Given the description of an element on the screen output the (x, y) to click on. 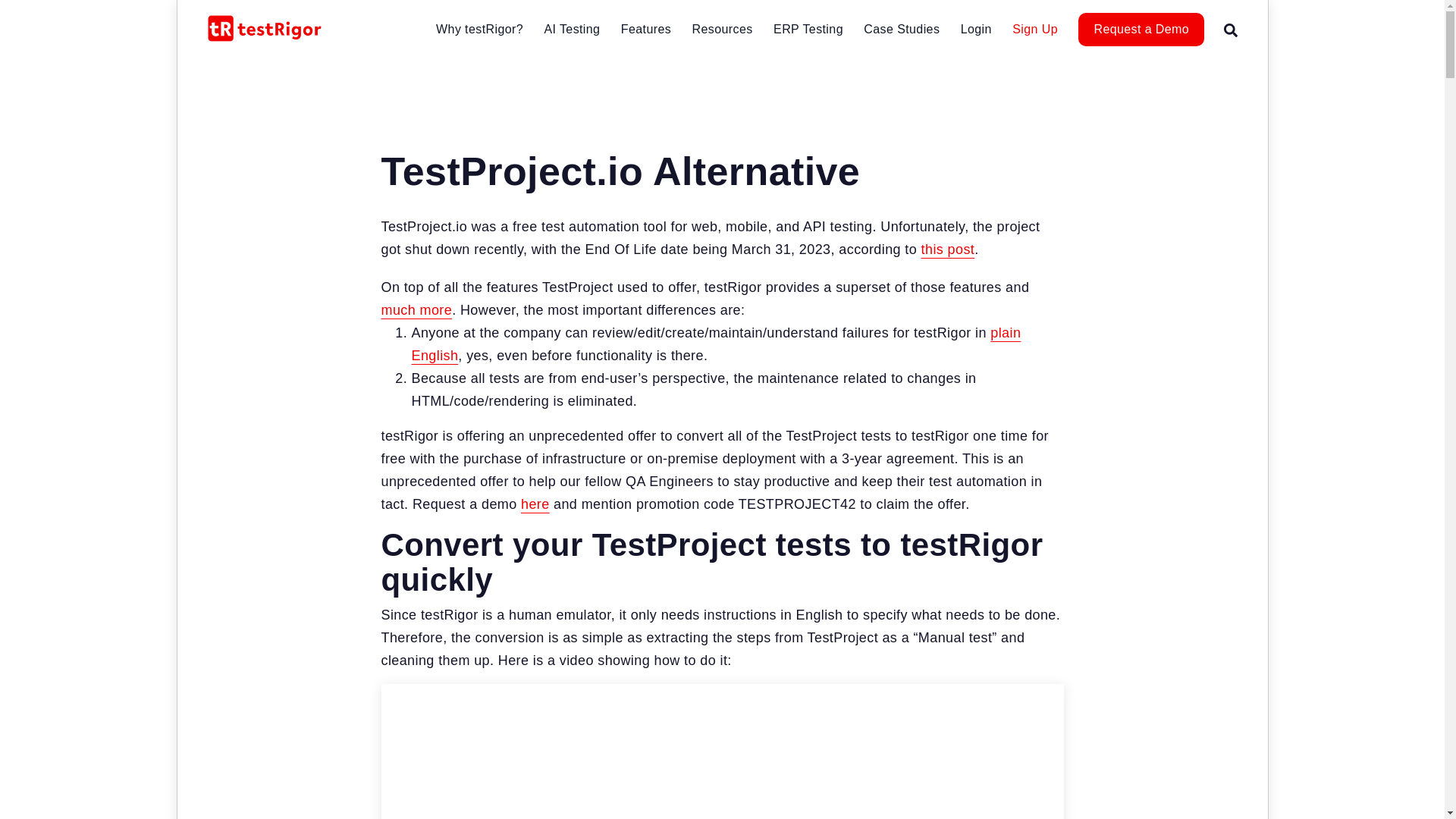
Top Features (699, 63)
Acumatica Testing (851, 63)
YouTube video player (721, 751)
ERP Testing (808, 29)
AI Testing (571, 29)
Documentation (715, 344)
Request a Trial (535, 503)
Features (646, 29)
Search entire website (1230, 29)
Documentation (770, 63)
testRigor Features (415, 309)
Why testRigor? (478, 29)
AI In Software Testing (621, 63)
Resources (722, 29)
